Given the description of an element on the screen output the (x, y) to click on. 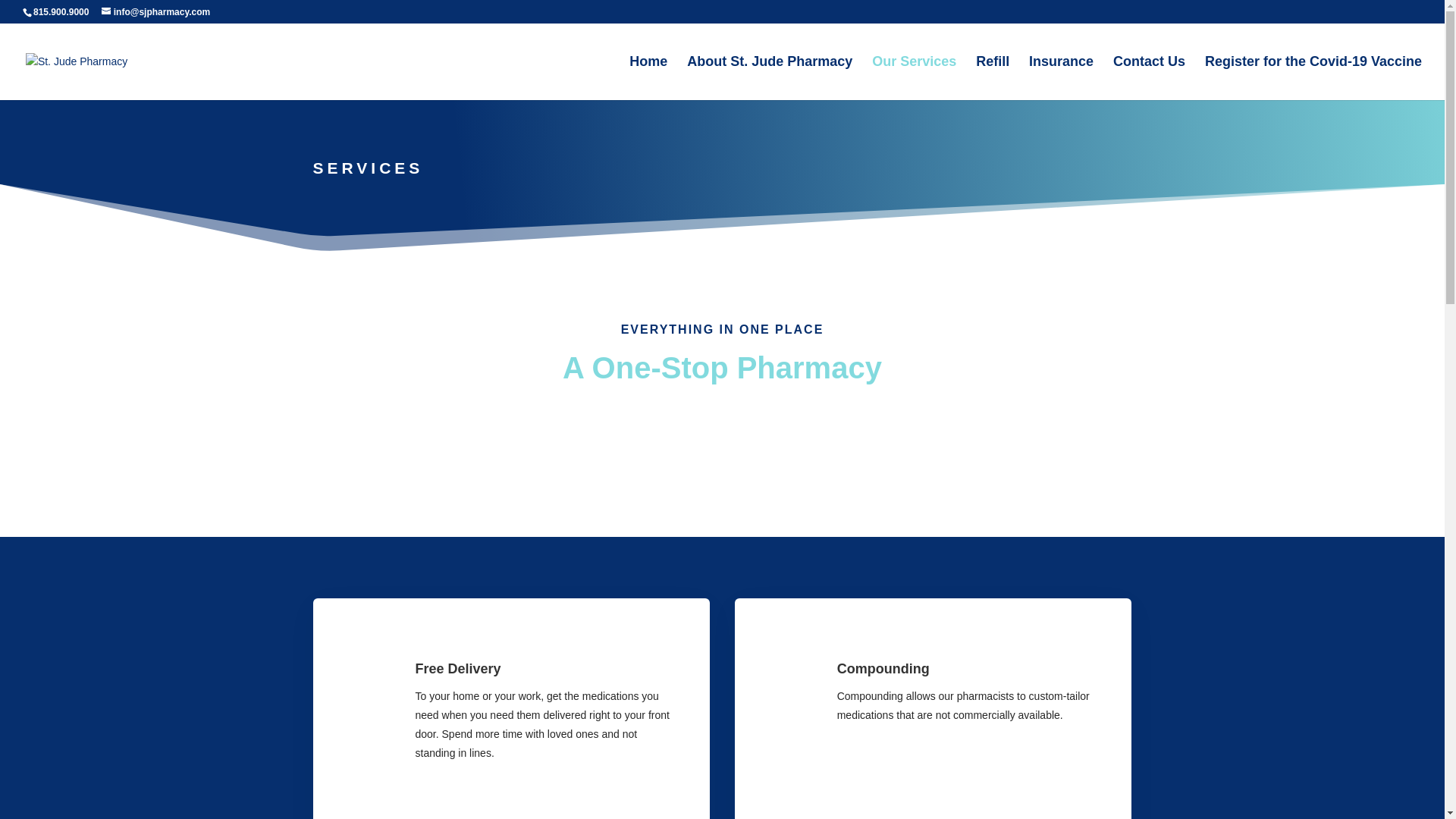
Register for the Covid-19 Vaccine (1313, 77)
About St. Jude Pharmacy (769, 77)
Our Services (914, 77)
Insurance (1061, 77)
Contact Us (1149, 77)
